Given the description of an element on the screen output the (x, y) to click on. 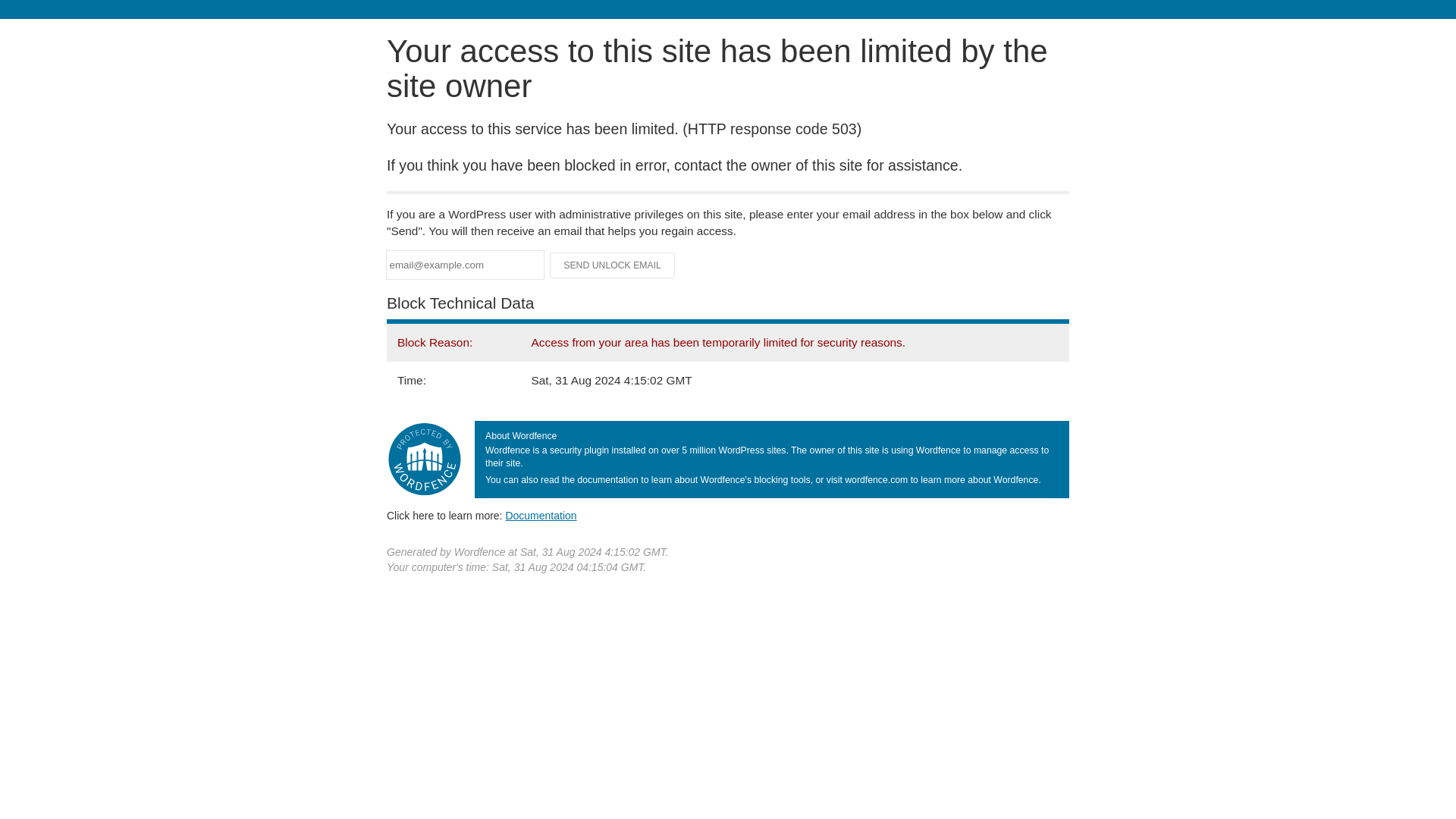
Send Unlock Email (612, 265)
Send Unlock Email (612, 265)
Documentation (540, 515)
